Given the description of an element on the screen output the (x, y) to click on. 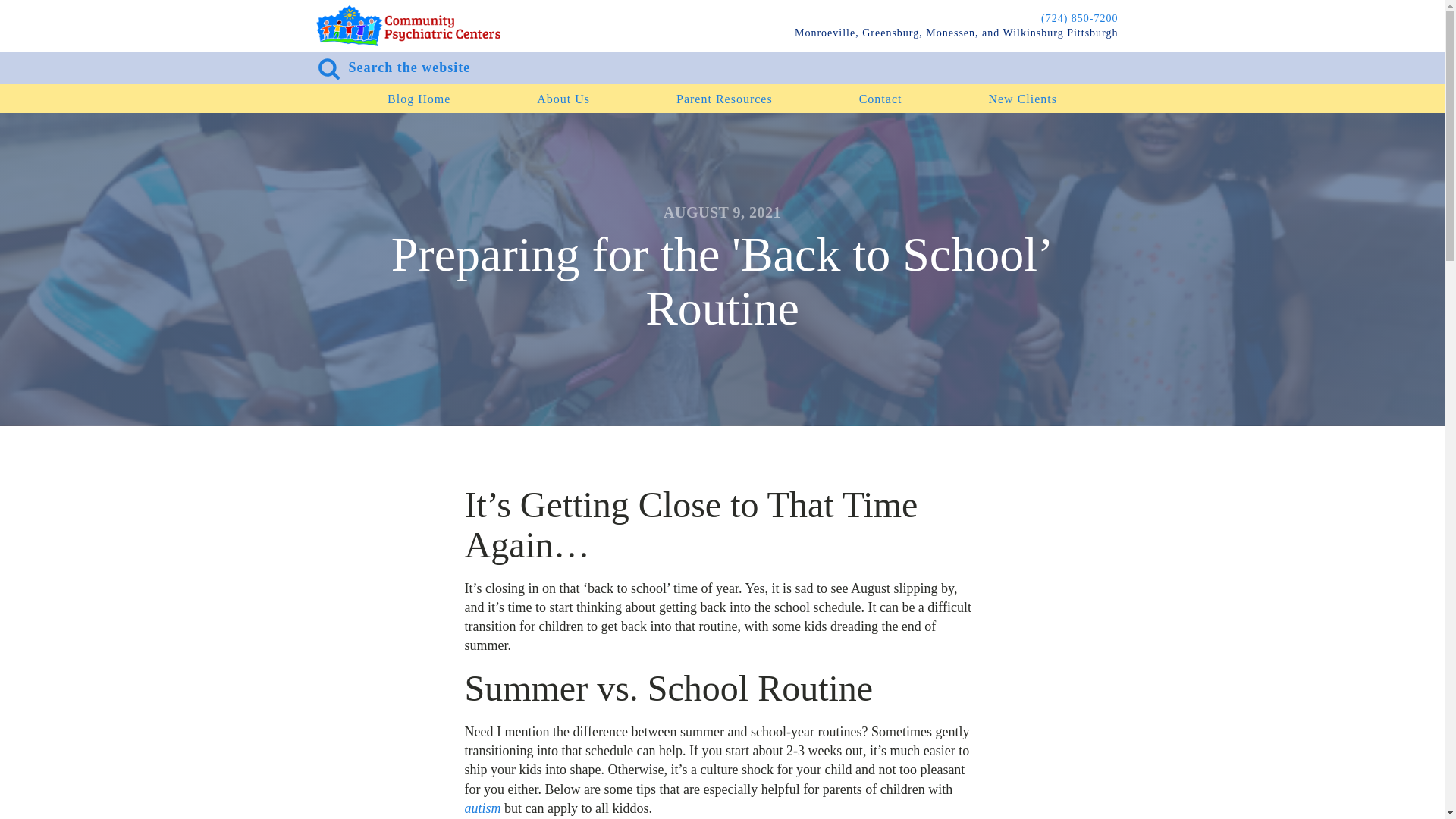
About Us (563, 98)
Blog Home (418, 98)
Search (25, 9)
autism (482, 807)
New Clients (1022, 98)
Contact (879, 98)
Parent Resources (724, 98)
